Given the description of an element on the screen output the (x, y) to click on. 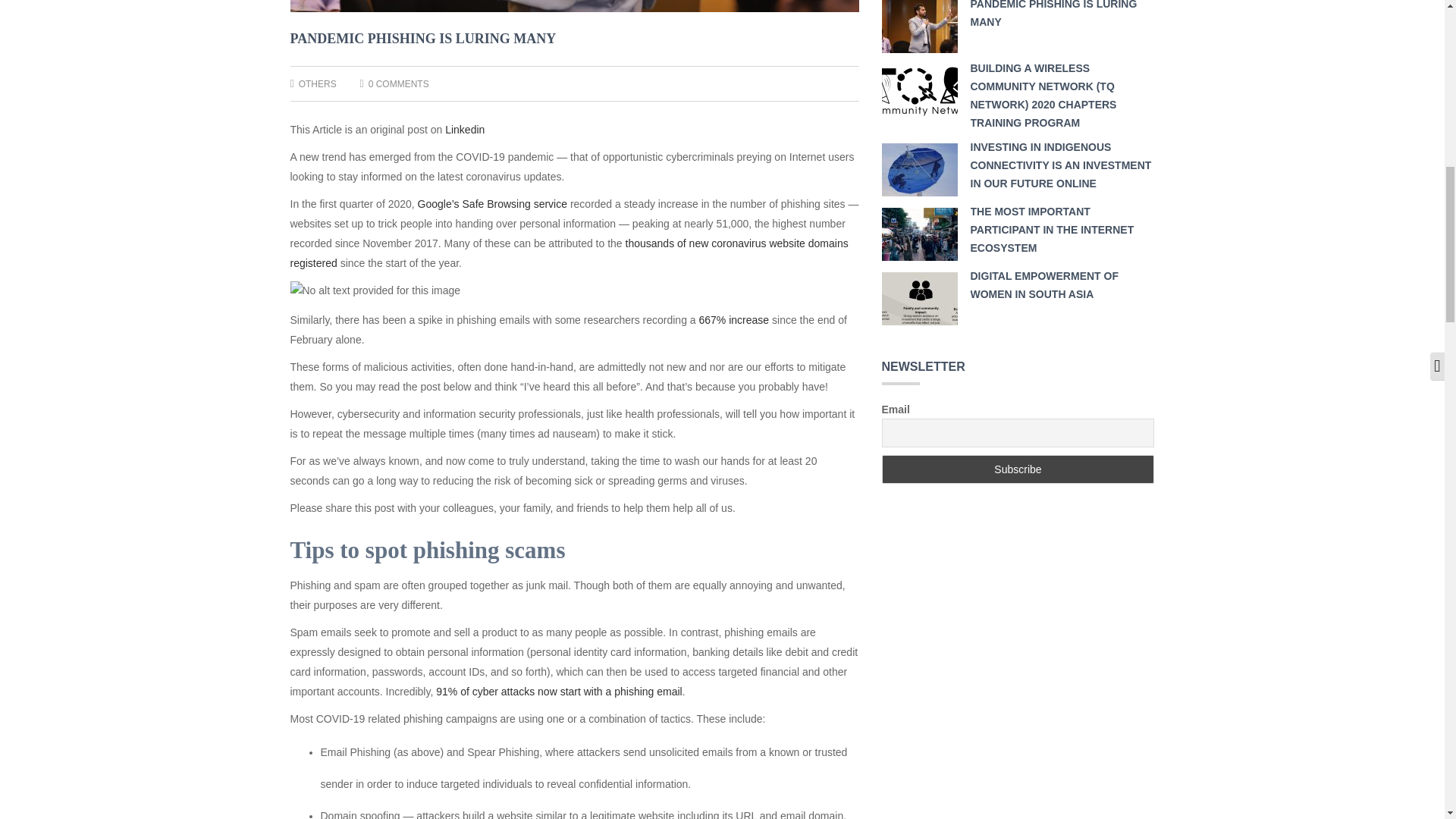
Linkedin (464, 129)
0 COMMENTS (398, 83)
Subscribe (1017, 469)
OTHERS (317, 83)
thousands of new coronavirus website domains registered (568, 253)
